Given the description of an element on the screen output the (x, y) to click on. 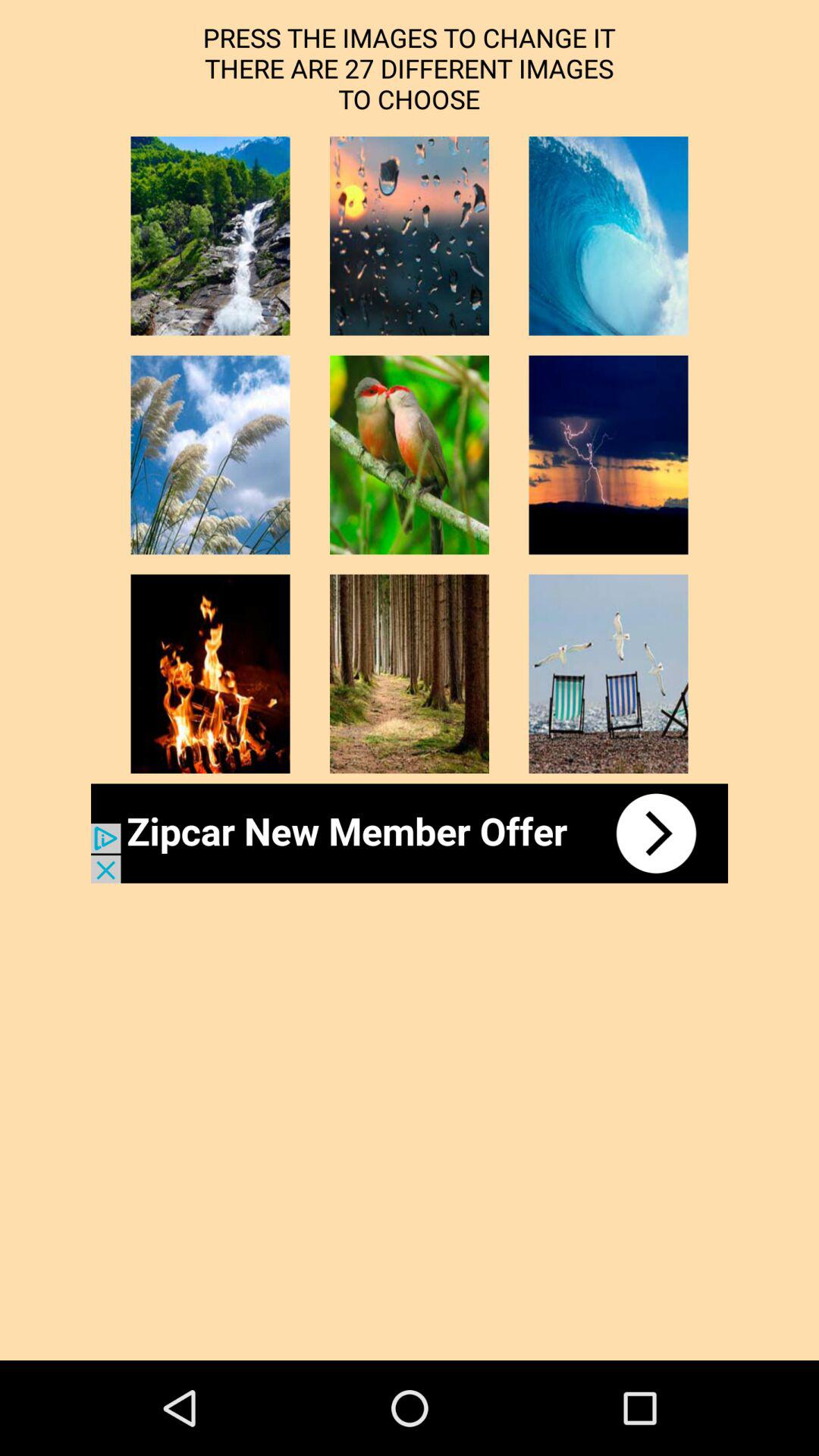
select this image (210, 235)
